Given the description of an element on the screen output the (x, y) to click on. 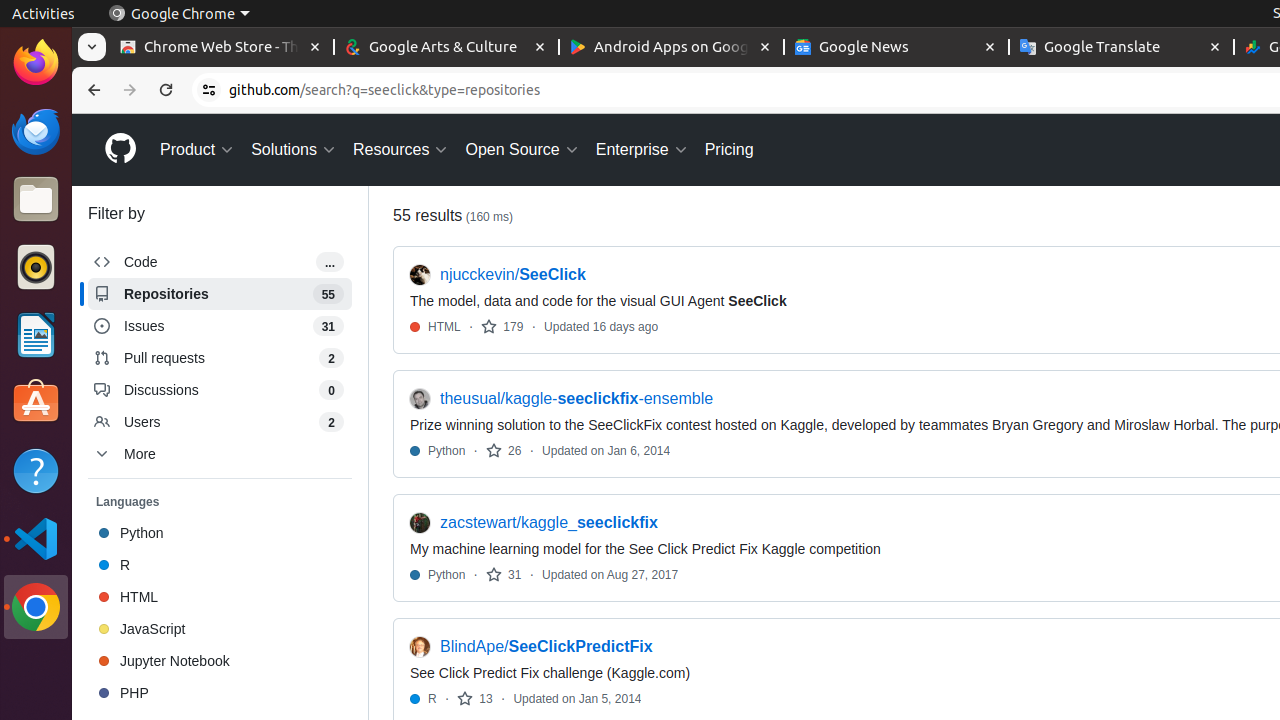
LibreOffice Writer Element type: push-button (36, 334)
View site information Element type: push-button (209, 90)
‎R‎ Element type: link (220, 565)
BlindApe/SeeClickPredictFix Element type: link (546, 647)
Reload Element type: push-button (166, 90)
